Given the description of an element on the screen output the (x, y) to click on. 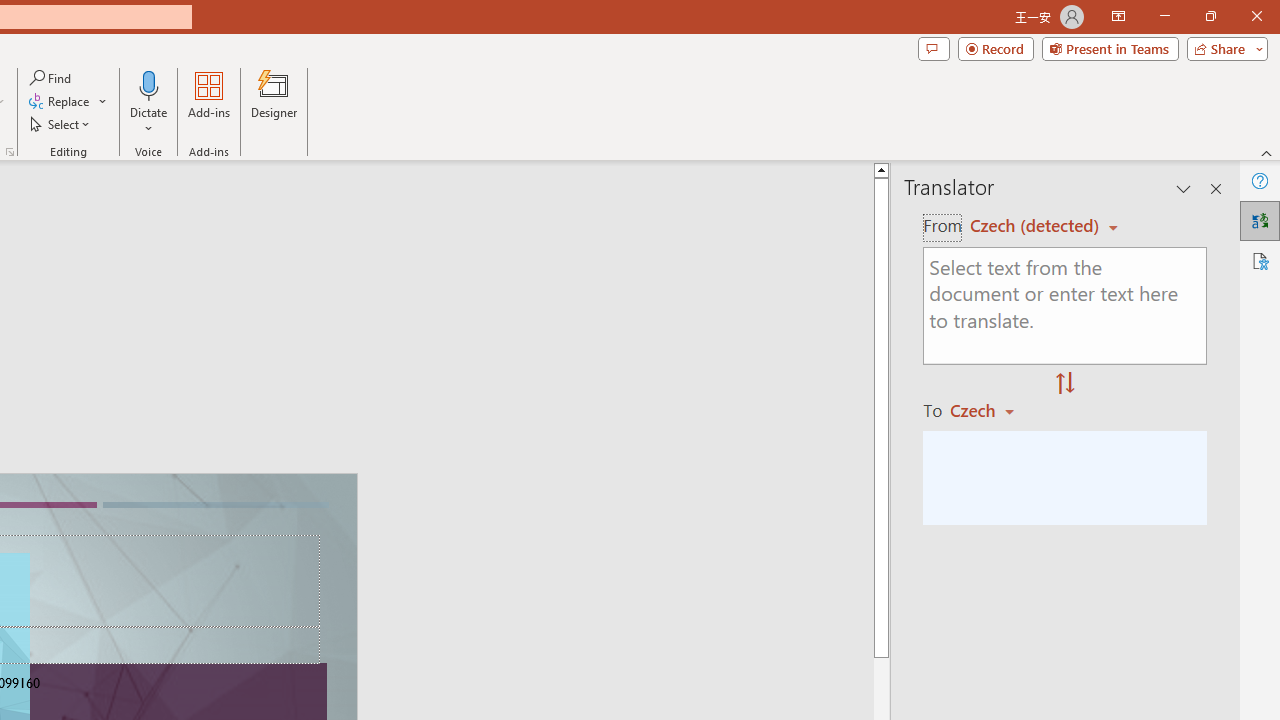
Swap "from" and "to" languages. (1065, 383)
